Given the description of an element on the screen output the (x, y) to click on. 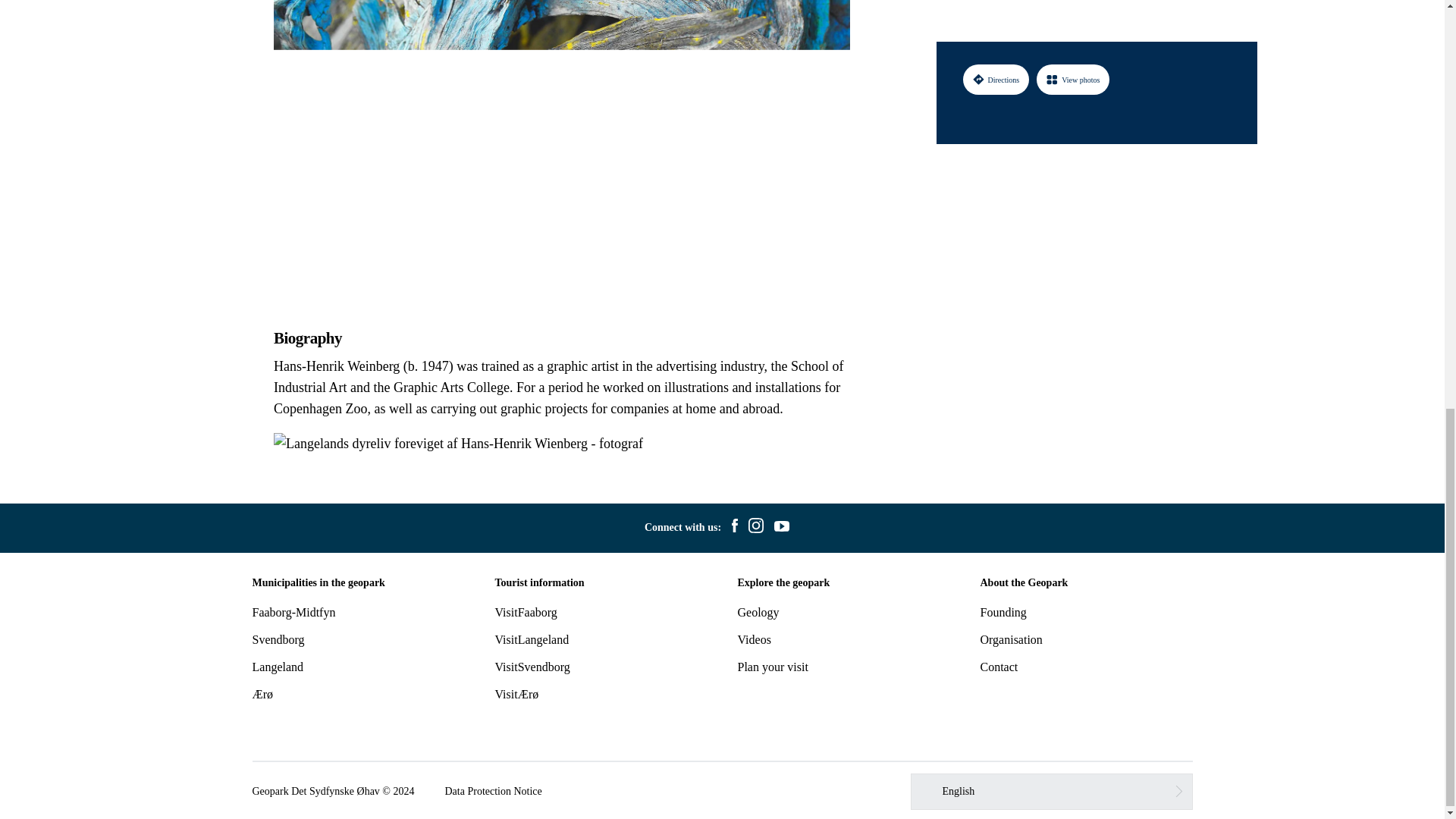
youtube (781, 528)
Organisation (1010, 639)
VisitSvendborg (532, 666)
Faaborg-Midtfyn (292, 612)
Langeland (276, 666)
Geology (757, 612)
Videos (753, 639)
facebook (734, 527)
Faaborg-Midtfyn (292, 612)
Videos (753, 639)
